Given the description of an element on the screen output the (x, y) to click on. 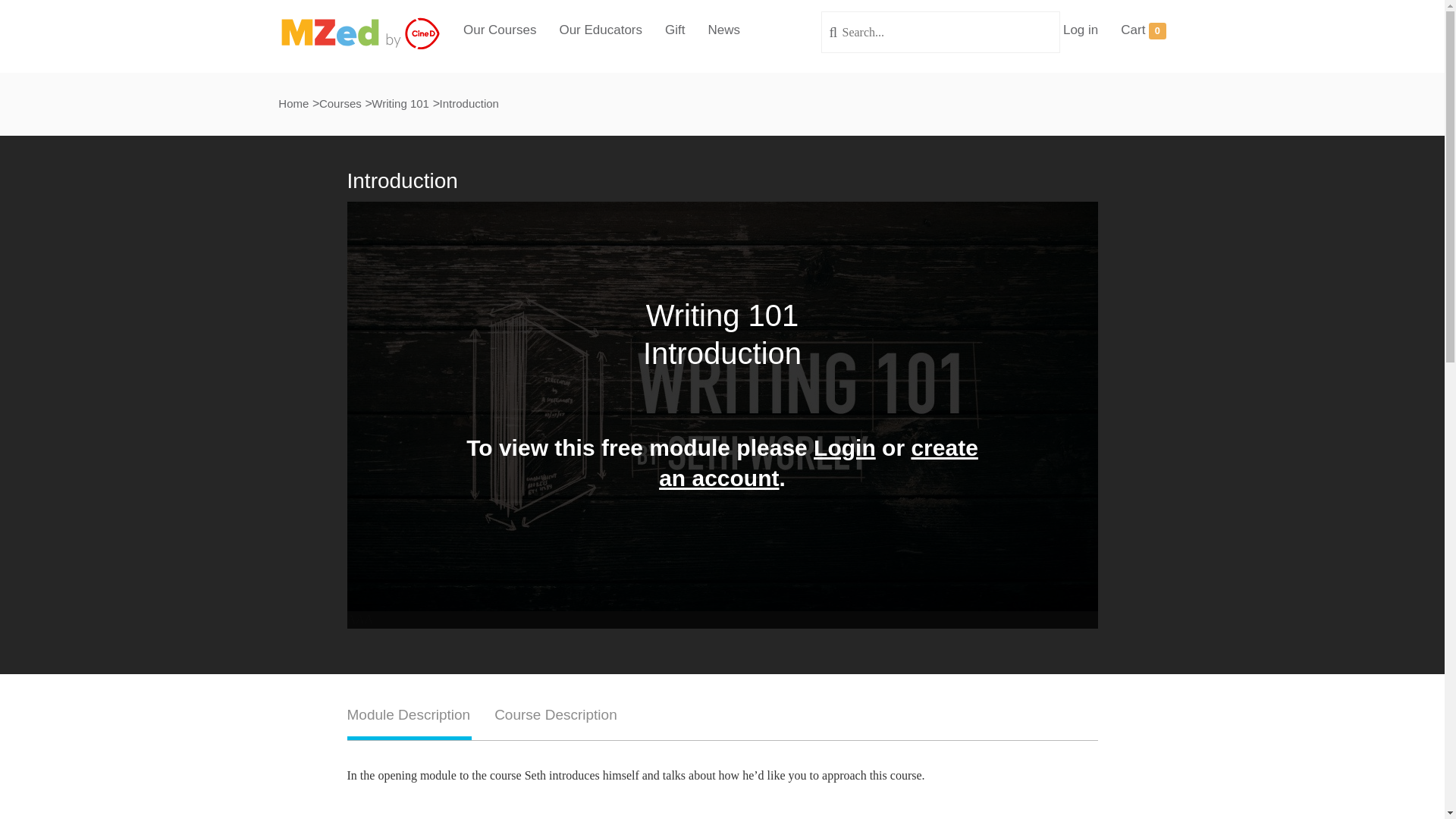
News (723, 30)
Courses (339, 103)
Home (293, 103)
Log in (1080, 30)
Course Description (556, 722)
Our Educators (600, 30)
Writing 101 (400, 103)
Our Courses (499, 30)
create an account (818, 462)
Login (844, 447)
